Given the description of an element on the screen output the (x, y) to click on. 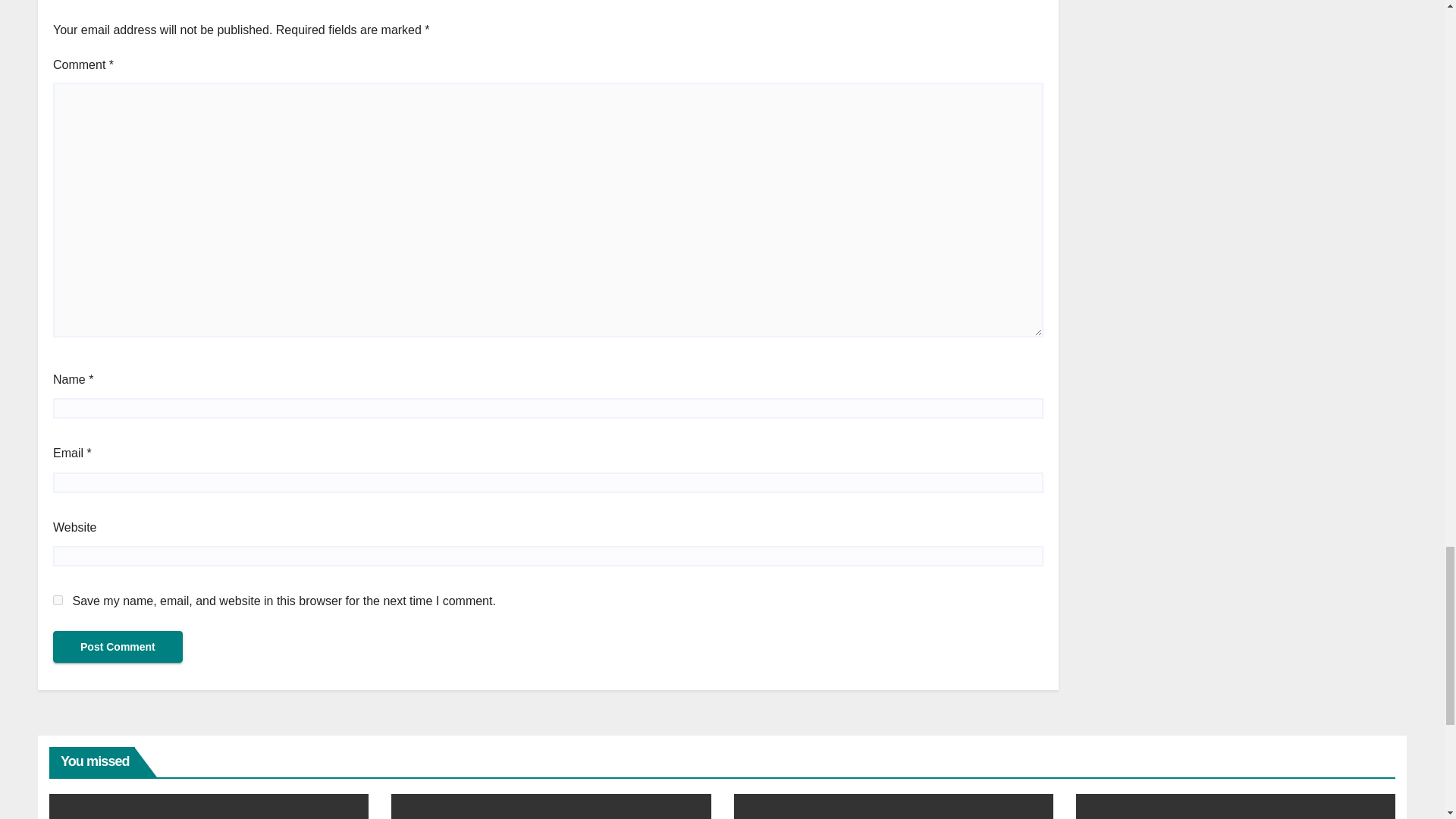
Post Comment (117, 646)
Post Comment (117, 646)
yes (57, 600)
